Given the description of an element on the screen output the (x, y) to click on. 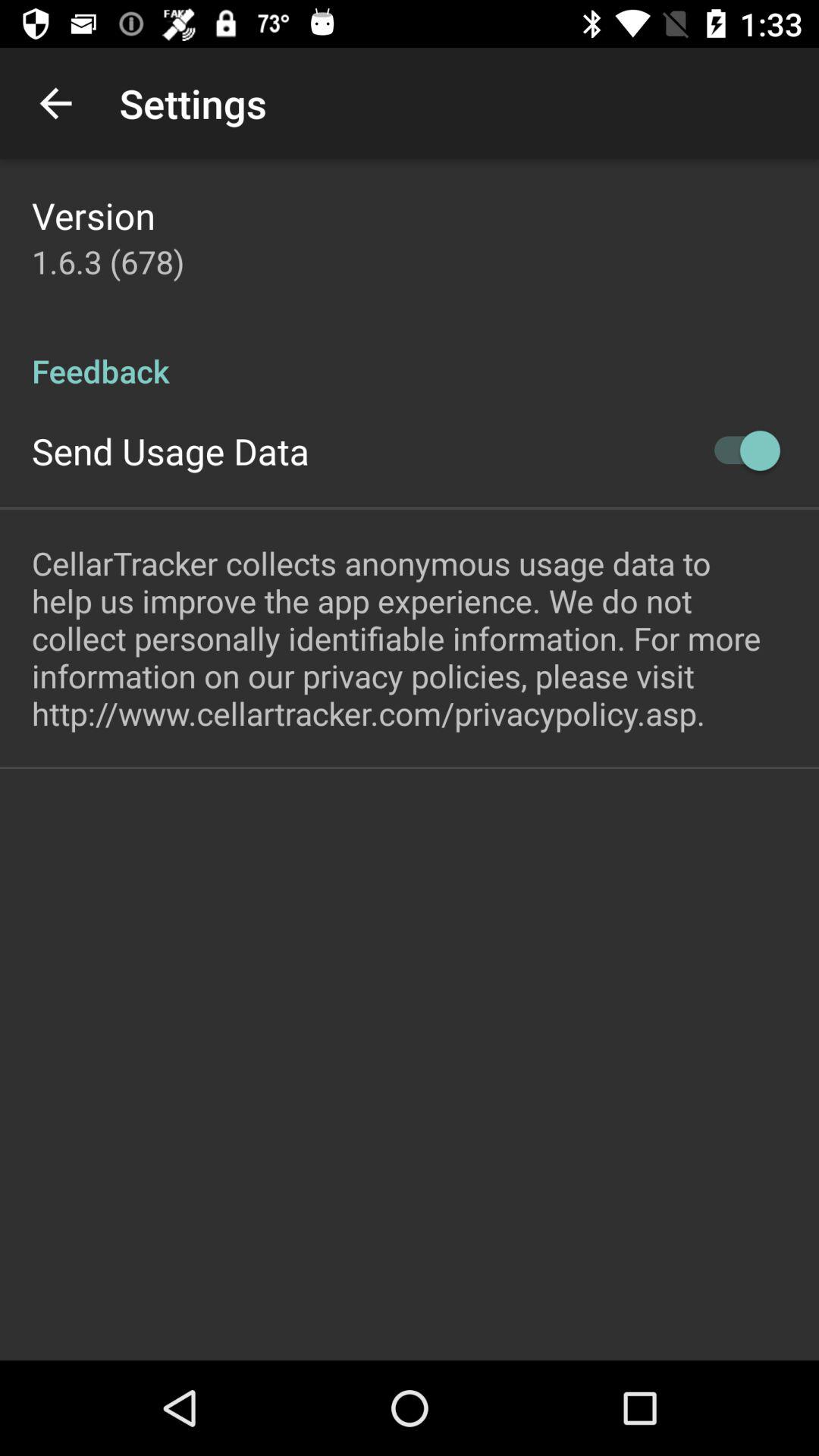
jump until 1 6 3 (107, 261)
